Given the description of an element on the screen output the (x, y) to click on. 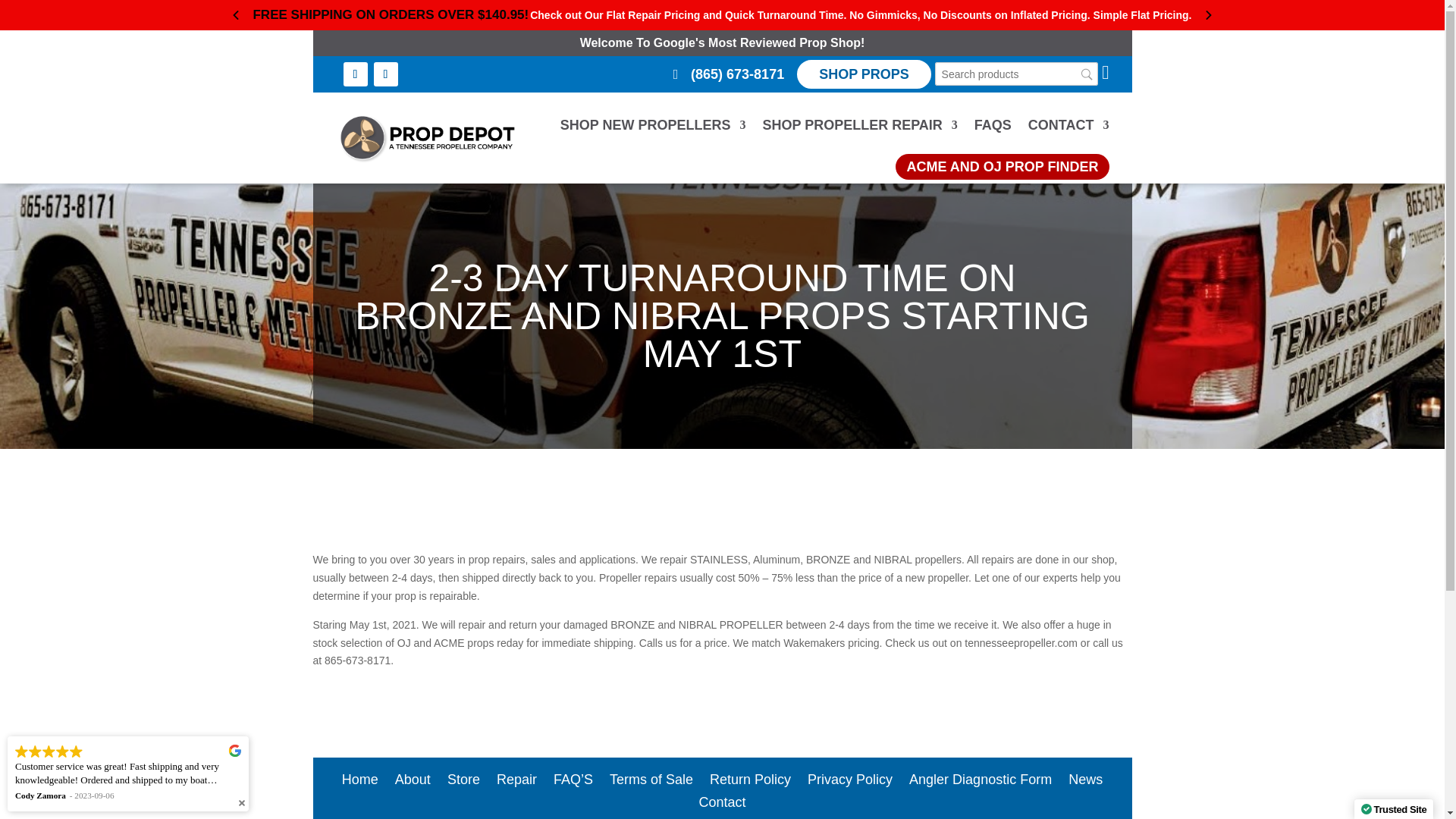
CONTACT (1068, 124)
SHOP NEW PROPELLERS (652, 124)
SHOP PROPS (863, 73)
ACME AND OJ PROP FINDER (1001, 166)
Follow on Instagram (384, 74)
Follow on Facebook (354, 74)
SHOP PROPELLER REPAIR (858, 124)
